Given the description of an element on the screen output the (x, y) to click on. 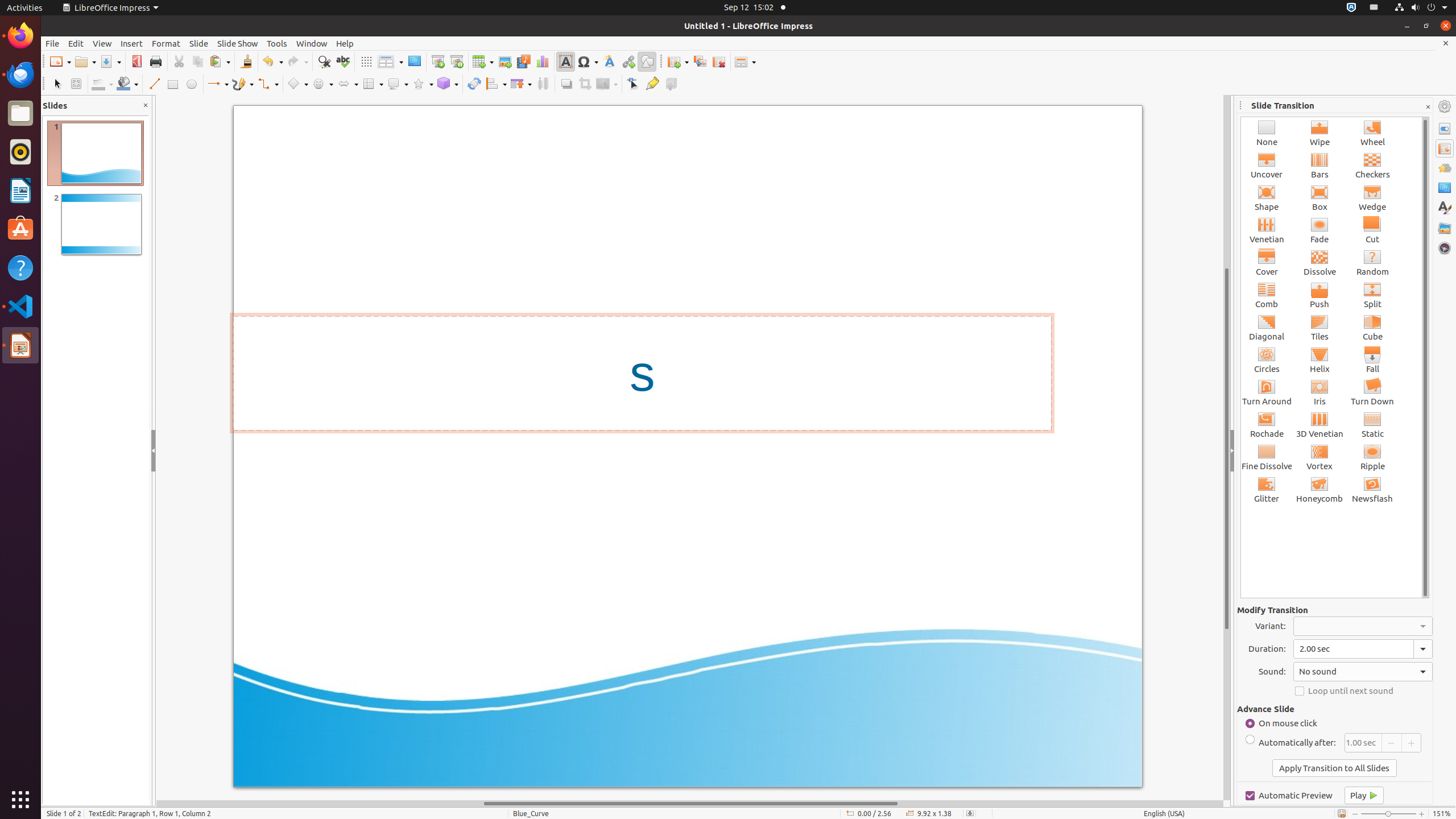
Box Element type: list-item (1319, 197)
Ripple Element type: list-item (1372, 456)
Wedge Element type: list-item (1372, 197)
Turn Down Element type: list-item (1372, 391)
Image Element type: push-button (504, 61)
